Given the description of an element on the screen output the (x, y) to click on. 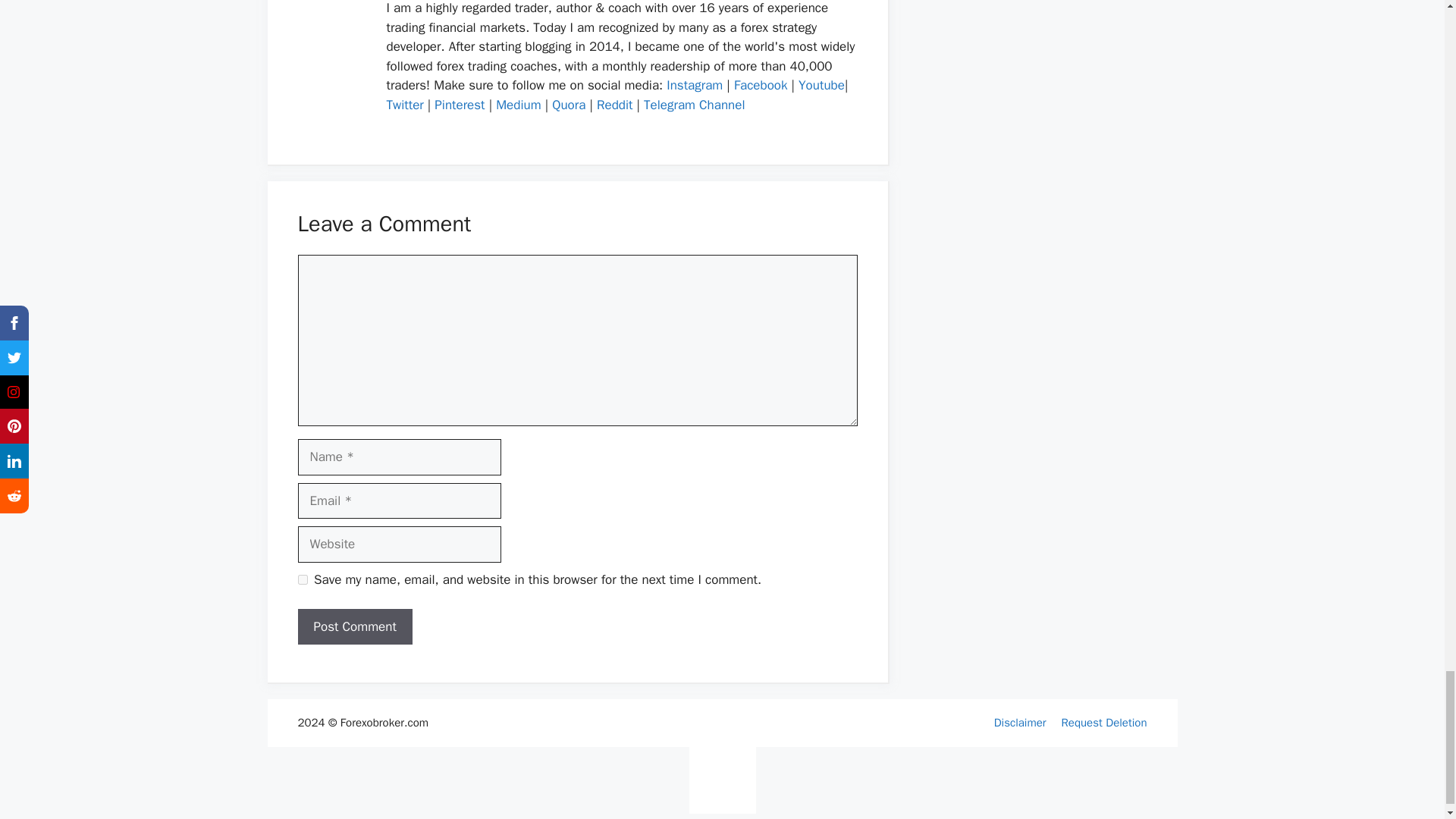
yes (302, 579)
Post Comment (354, 627)
